Given the description of an element on the screen output the (x, y) to click on. 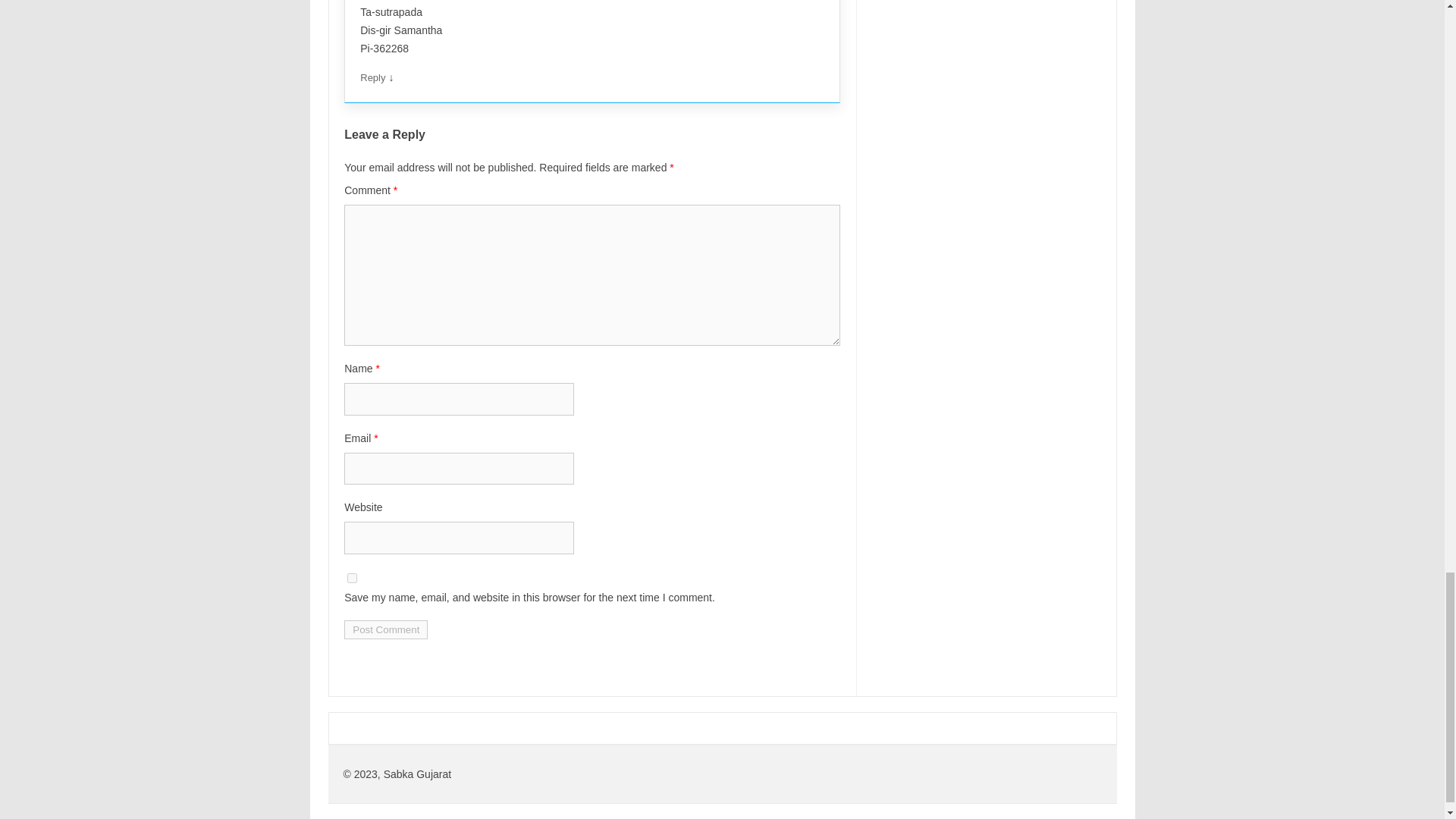
Reply (372, 77)
Post Comment (385, 629)
yes (351, 578)
